Given the description of an element on the screen output the (x, y) to click on. 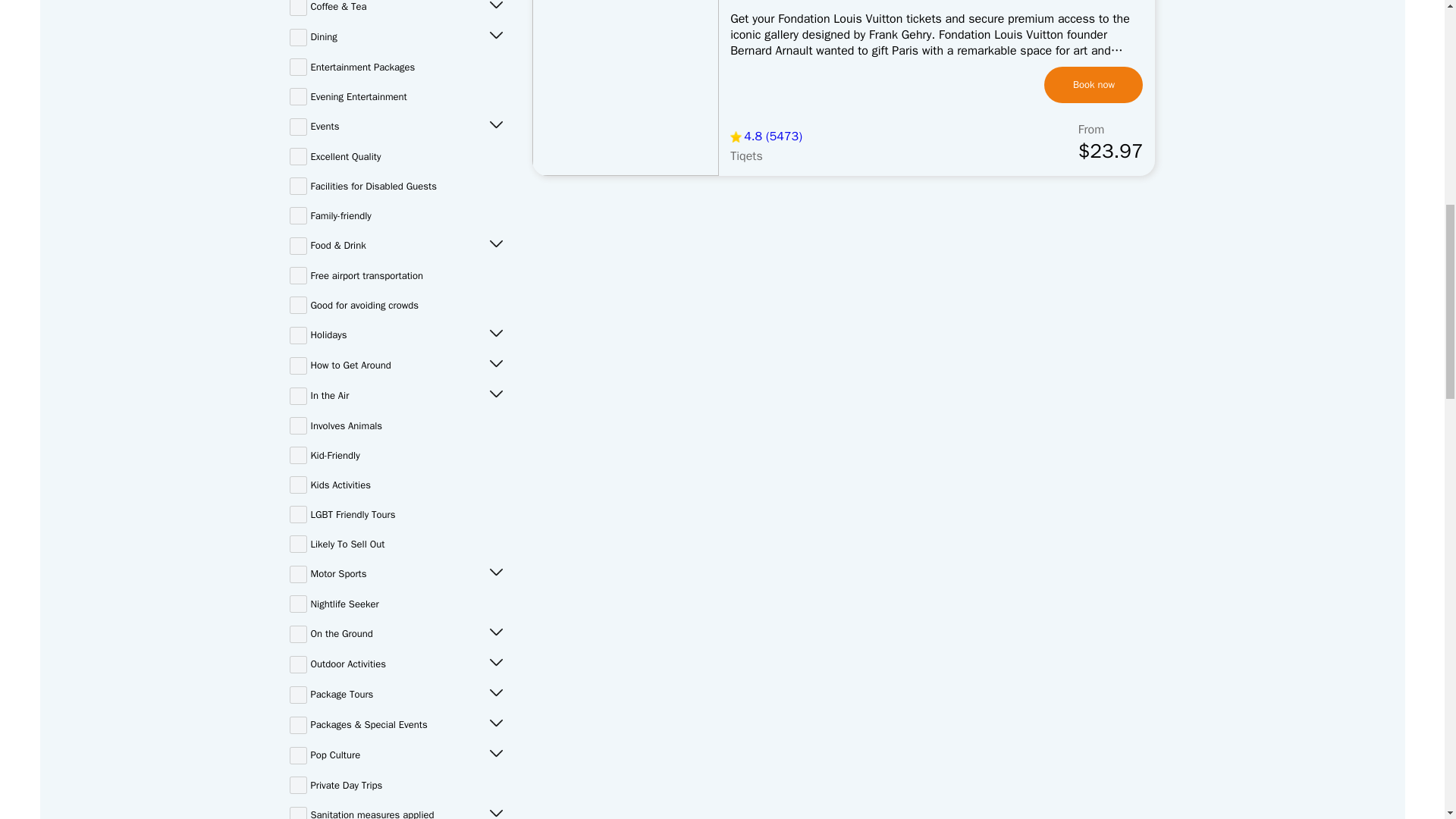
on (298, 96)
on (298, 67)
on (298, 7)
on (298, 36)
on (298, 126)
